Given the description of an element on the screen output the (x, y) to click on. 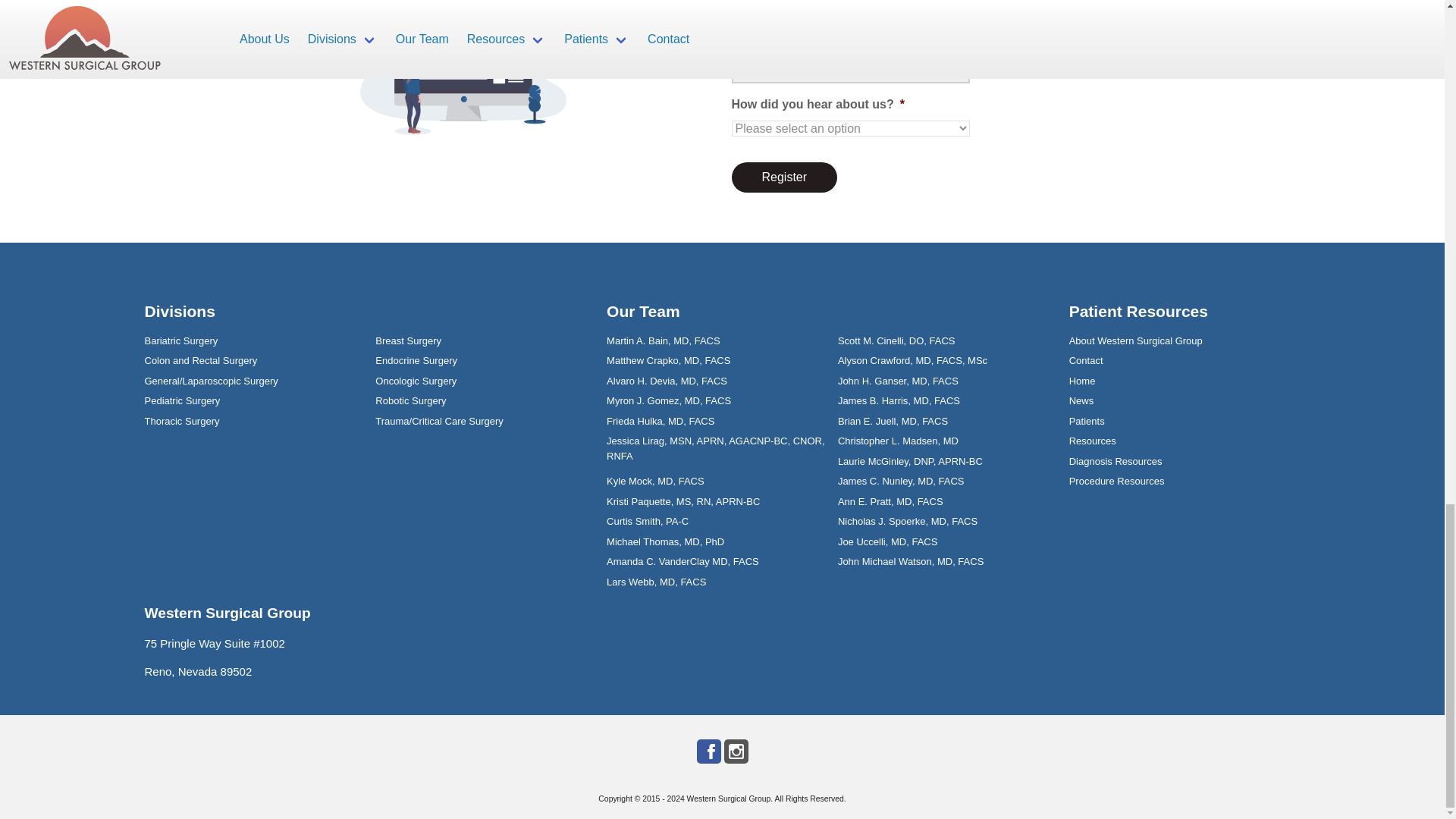
Follow on Instagram (735, 751)
Register (783, 177)
Follow on Facebook (707, 751)
Western Surgical Group (729, 798)
